Given the description of an element on the screen output the (x, y) to click on. 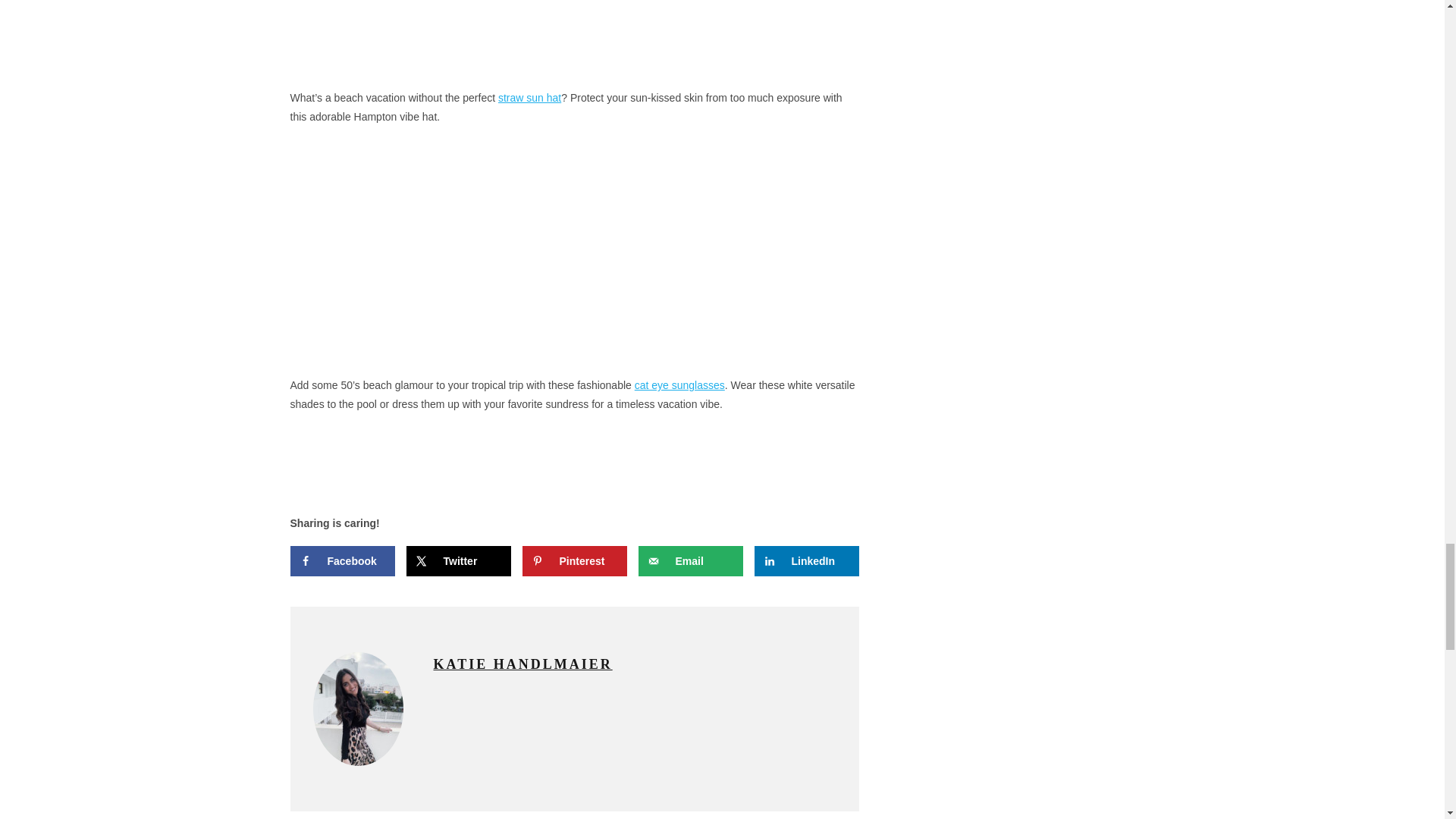
Share on X (458, 561)
Send over email (690, 561)
Save to Pinterest (573, 561)
Share on LinkedIn (806, 561)
Share on Facebook (341, 561)
